Given the description of an element on the screen output the (x, y) to click on. 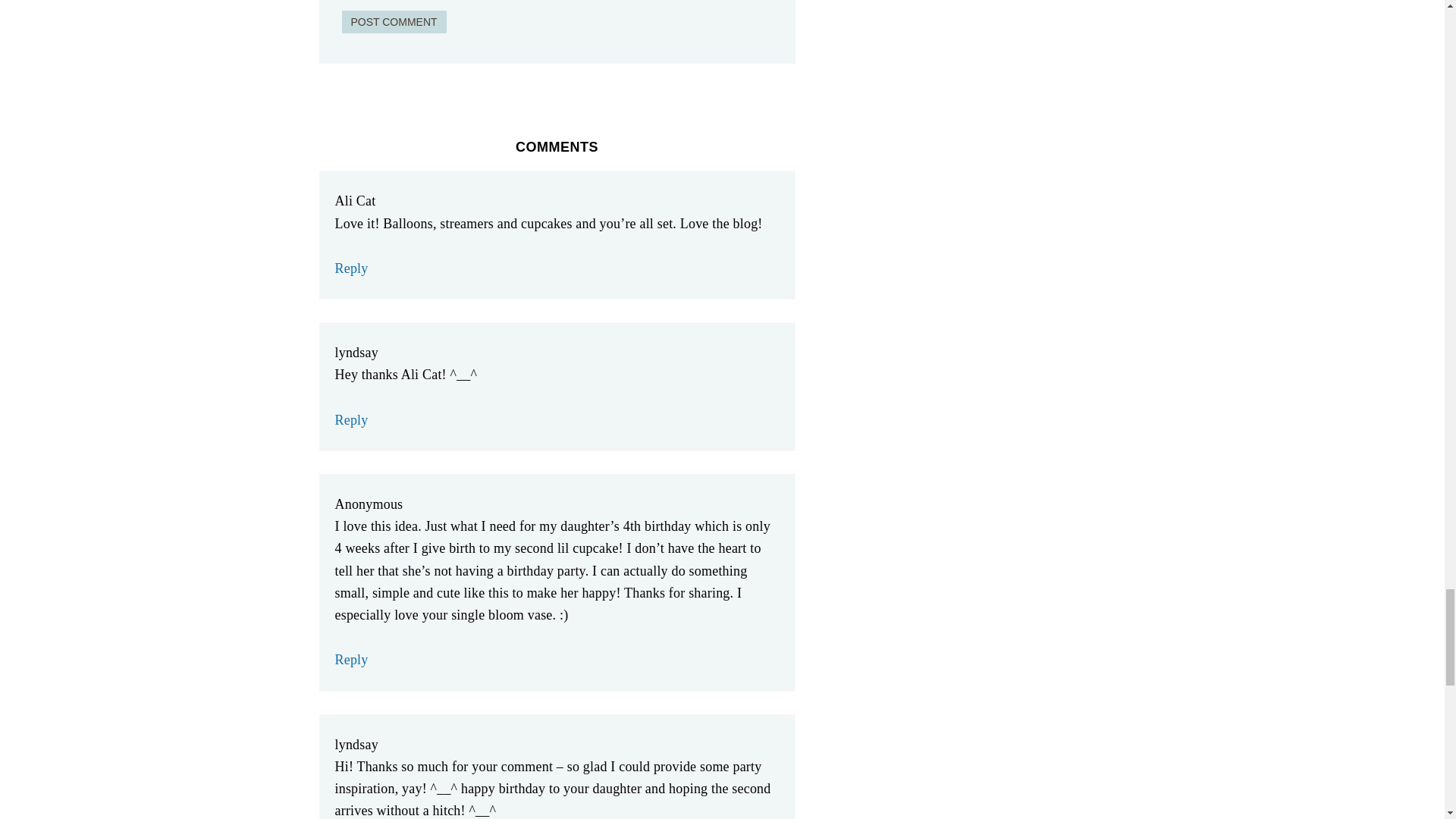
Reply (351, 419)
Reply (351, 268)
Post Comment (392, 21)
Post Comment (392, 21)
Reply (351, 659)
